Given the description of an element on the screen output the (x, y) to click on. 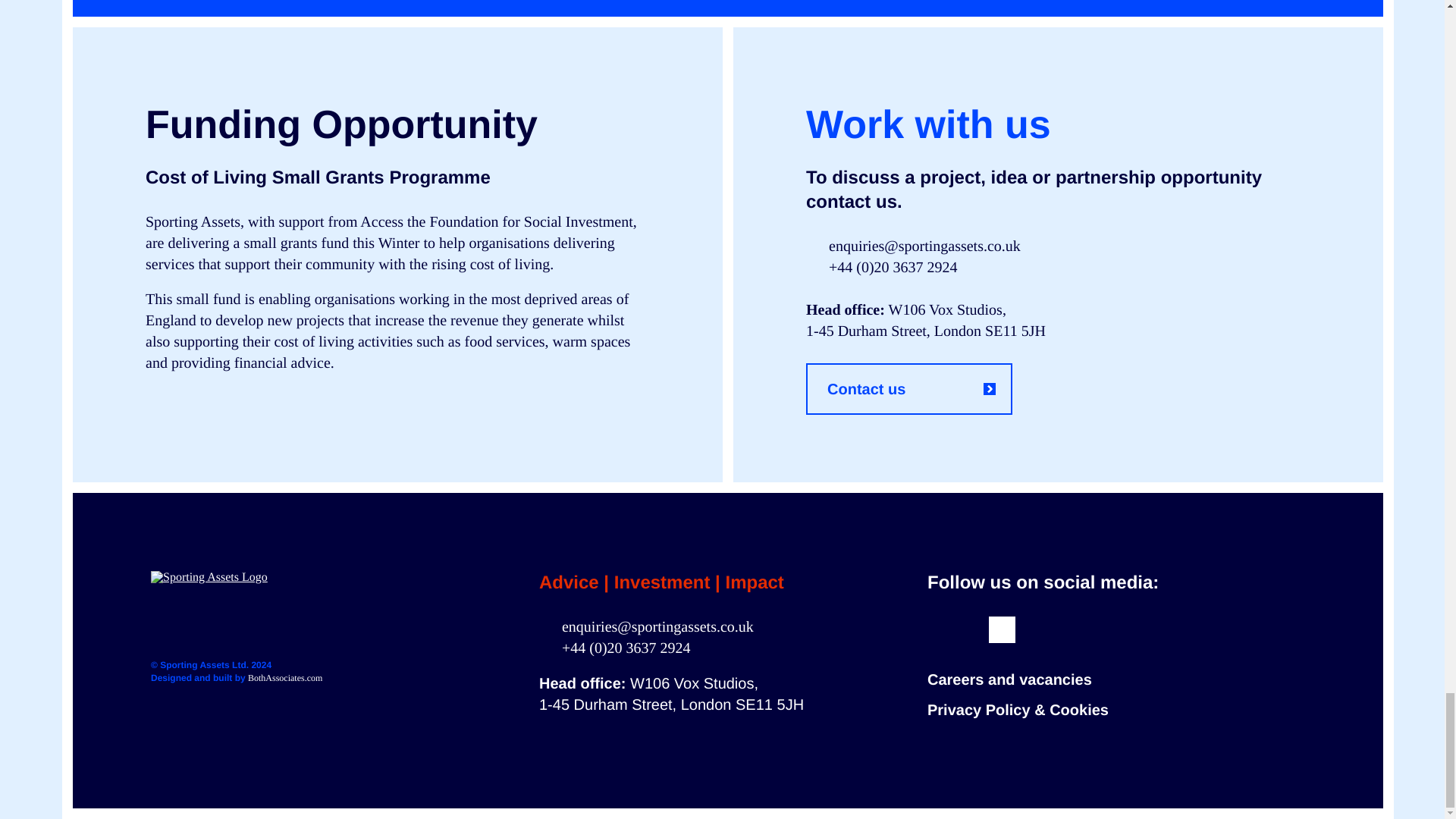
Careers and vacancies (1009, 679)
BothAssociates.com (284, 677)
Contact us (908, 388)
